Given the description of an element on the screen output the (x, y) to click on. 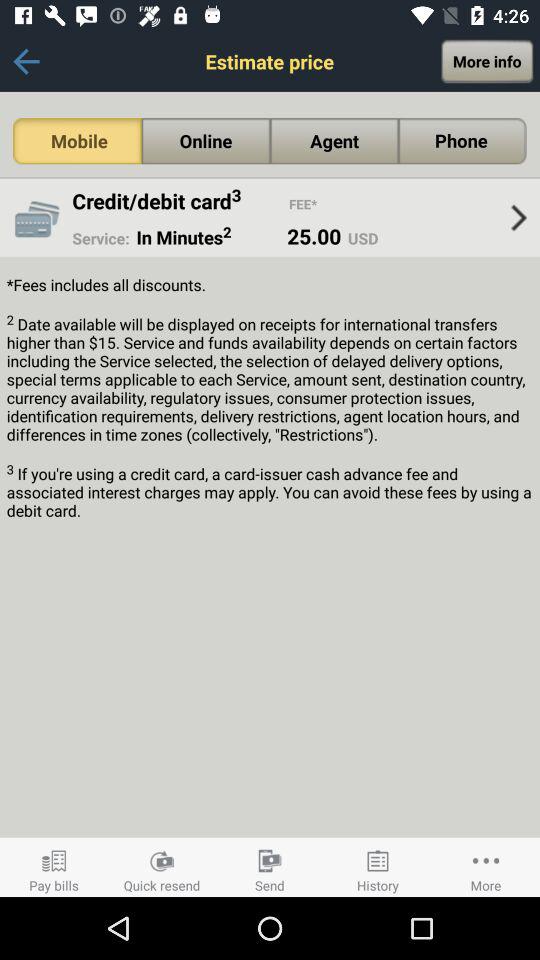
open in minutes2 item (201, 237)
